Given the description of an element on the screen output the (x, y) to click on. 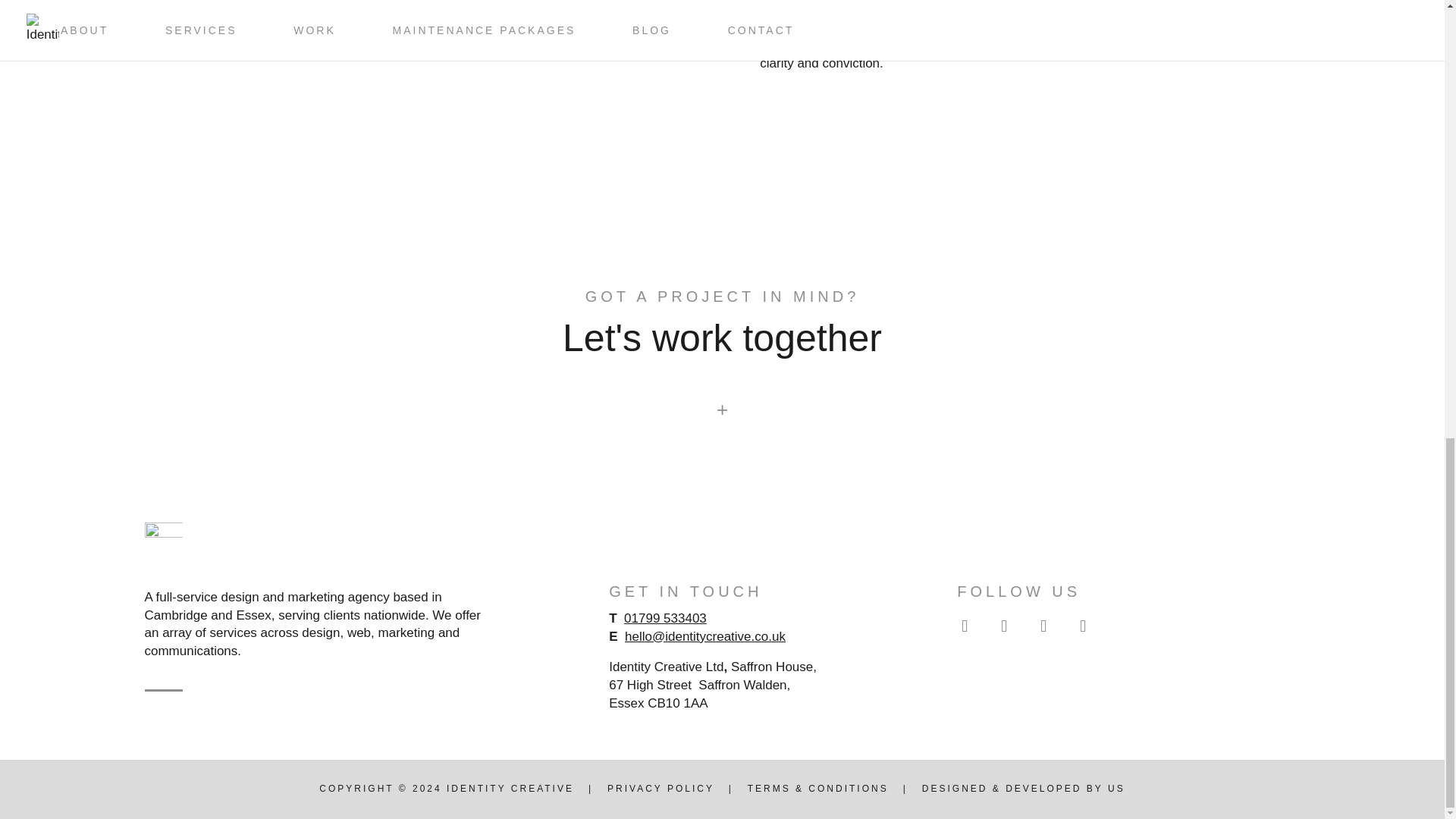
Identity-Creative-Favicon (163, 541)
01799 533403 (665, 617)
PRIVACY POLICY (660, 787)
Follow on Instagram (964, 625)
Follow on Facebook (1003, 625)
Follow on X (1042, 625)
Follow on LinkedIn (1082, 625)
